Given the description of an element on the screen output the (x, y) to click on. 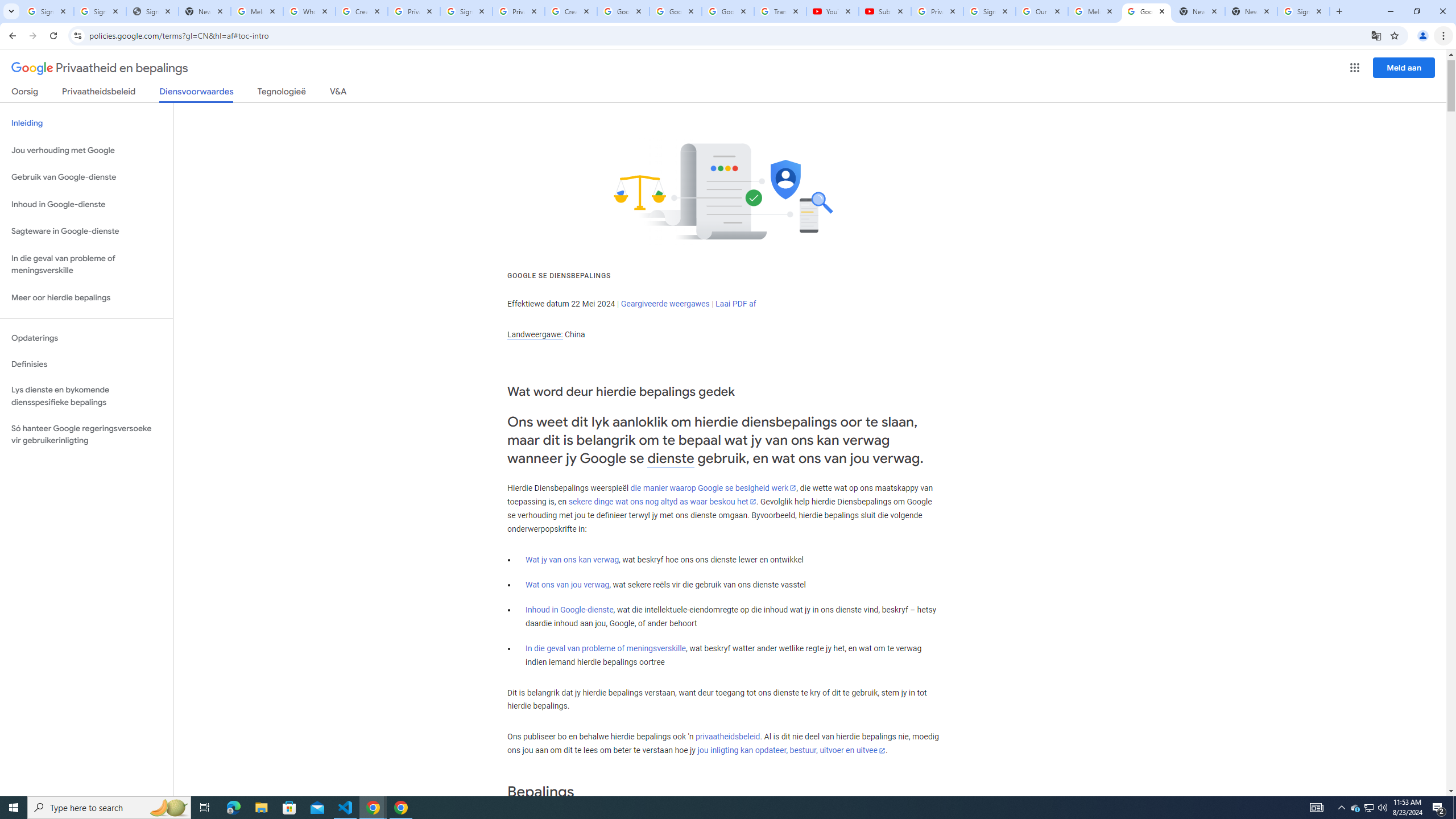
Edit Recipient List... (302, 92)
Match Fields... (601, 91)
Envelopes... (88, 92)
New comment (1221, 179)
Chinese Envelope... (39, 92)
Insert Merge Field (526, 92)
